Given the description of an element on the screen output the (x, y) to click on. 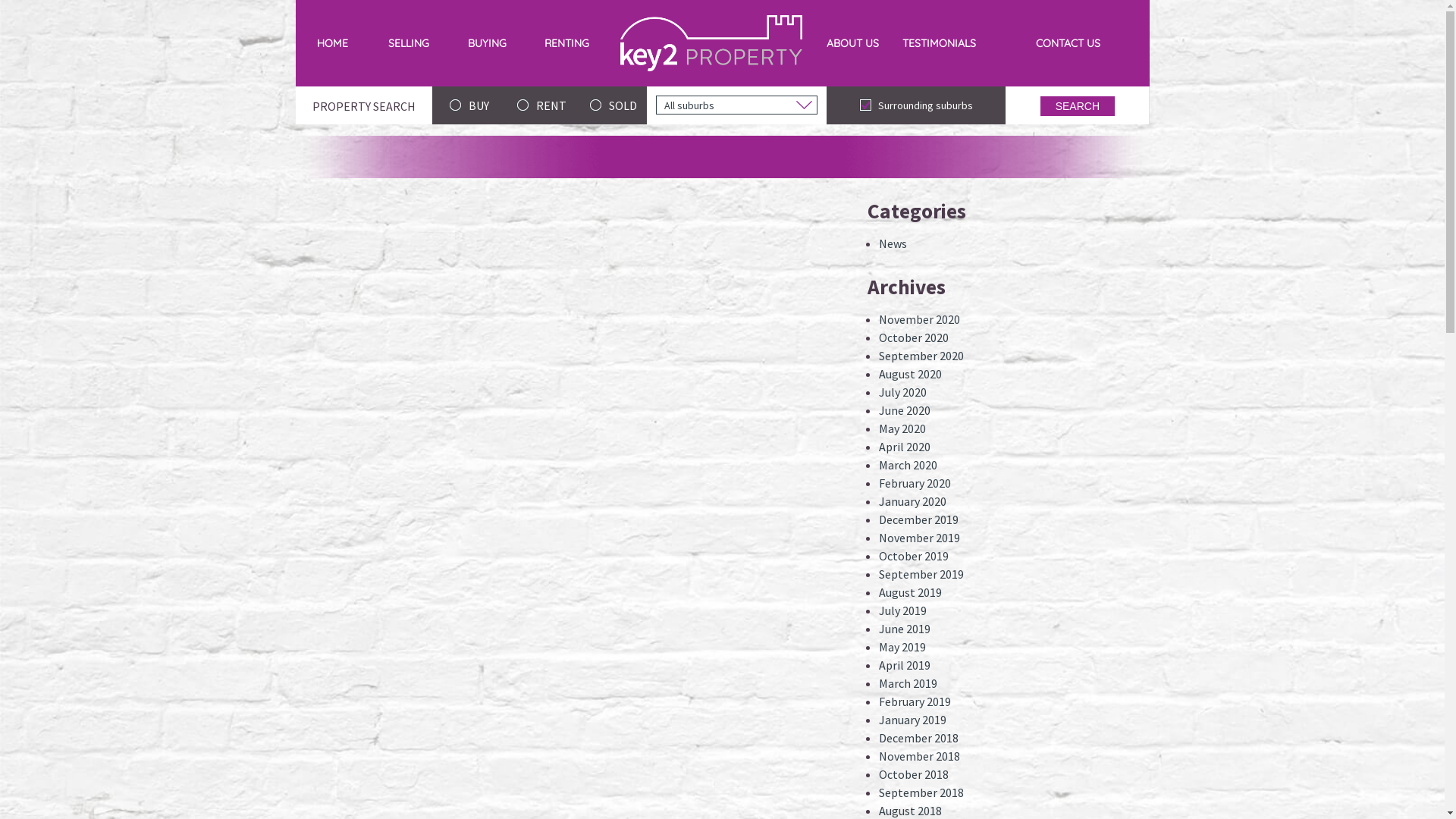
March 2020 Element type: text (907, 464)
March 2019 Element type: text (907, 682)
December 2019 Element type: text (918, 519)
October 2019 Element type: text (913, 555)
August 2019 Element type: text (909, 591)
February 2020 Element type: text (914, 482)
June 2020 Element type: text (904, 409)
April 2019 Element type: text (904, 664)
September 2019 Element type: text (920, 573)
April 2020 Element type: text (904, 446)
Search Element type: text (1077, 106)
May 2019 Element type: text (901, 646)
October 2020 Element type: text (913, 337)
February 2019 Element type: text (914, 701)
July 2020 Element type: text (902, 391)
ABOUT US Element type: text (852, 43)
HOME Element type: text (332, 43)
SELLING Element type: text (408, 43)
June 2019 Element type: text (904, 628)
August 2020 Element type: text (909, 373)
May 2020 Element type: text (901, 428)
December 2018 Element type: text (918, 737)
CONTACT US Element type: text (1067, 43)
BUYING Element type: text (487, 43)
October 2018 Element type: text (913, 773)
News Element type: text (892, 243)
November 2020 Element type: text (919, 318)
January 2020 Element type: text (912, 500)
July 2019 Element type: text (902, 610)
TESTIMONIALS Element type: text (939, 43)
RENTING Element type: text (566, 43)
November 2018 Element type: text (919, 755)
September 2020 Element type: text (920, 355)
January 2019 Element type: text (912, 719)
All suburbs Element type: text (736, 104)
August 2018 Element type: text (909, 810)
November 2019 Element type: text (919, 537)
September 2018 Element type: text (920, 792)
